Given the description of an element on the screen output the (x, y) to click on. 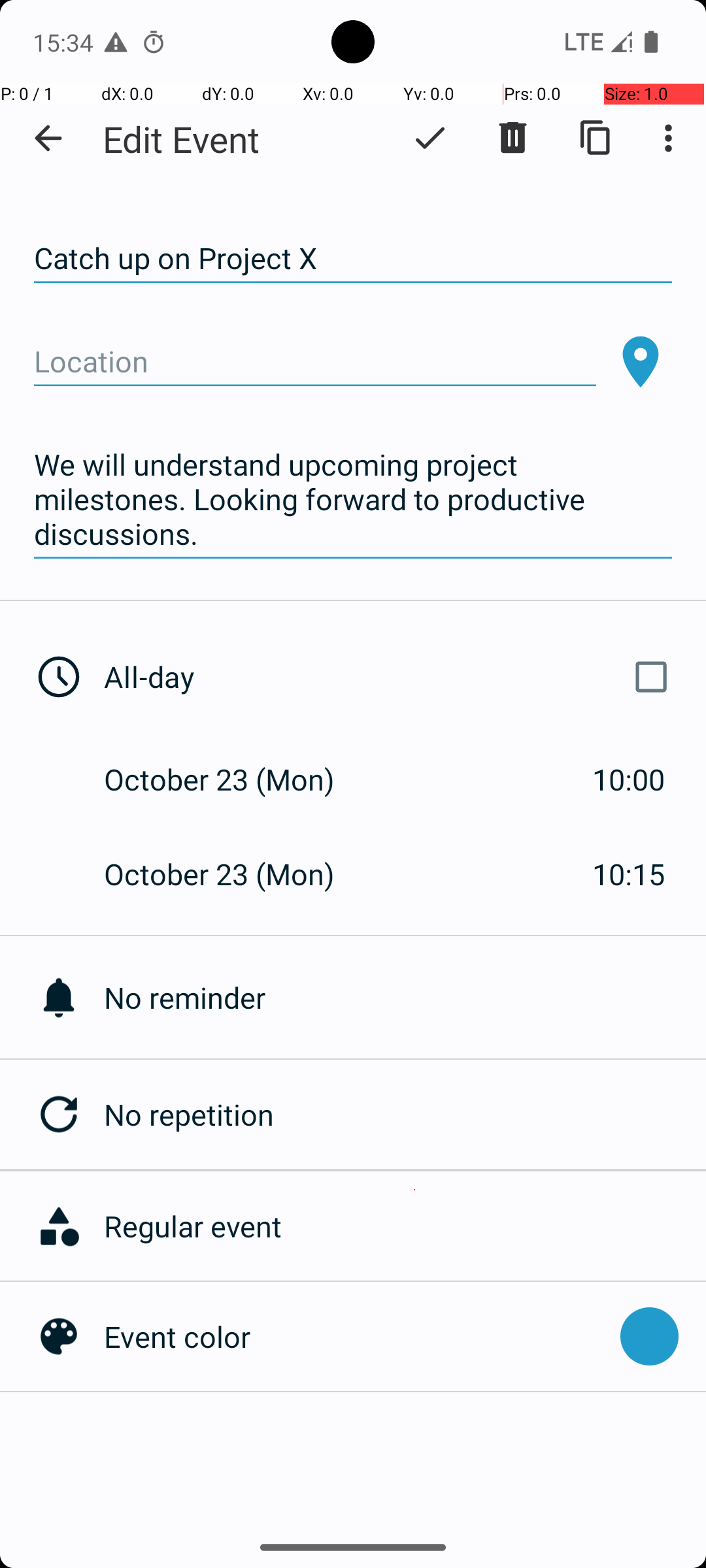
Catch up on Project X Element type: android.widget.EditText (352, 258)
We will understand upcoming project milestones. Looking forward to productive discussions. Element type: android.widget.EditText (352, 499)
October 23 (Mon) Element type: android.widget.TextView (232, 778)
10:00 Element type: android.widget.TextView (628, 778)
10:15 Element type: android.widget.TextView (628, 873)
